Given the description of an element on the screen output the (x, y) to click on. 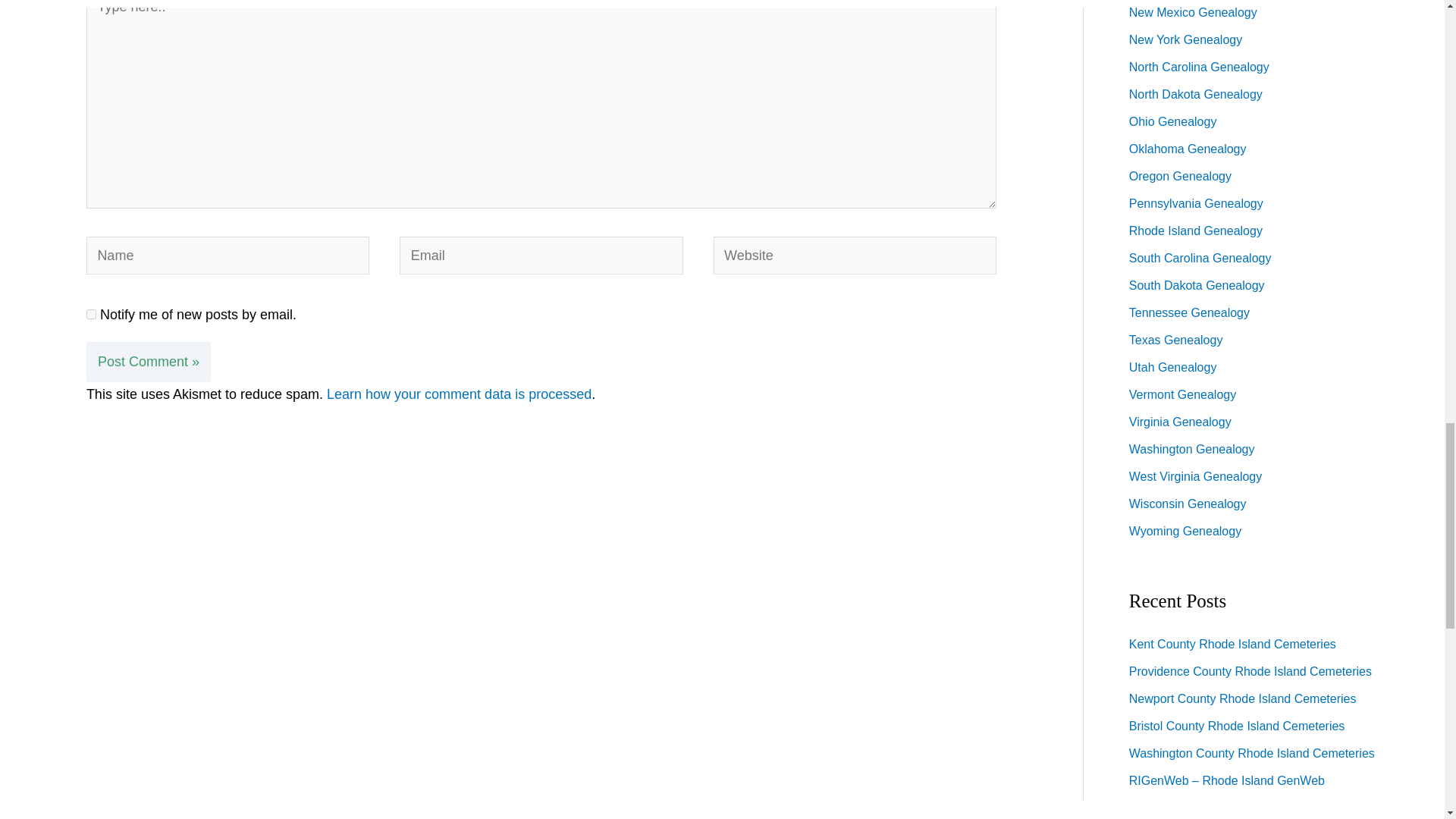
Learn how your comment data is processed (458, 394)
subscribe (90, 314)
